Given the description of an element on the screen output the (x, y) to click on. 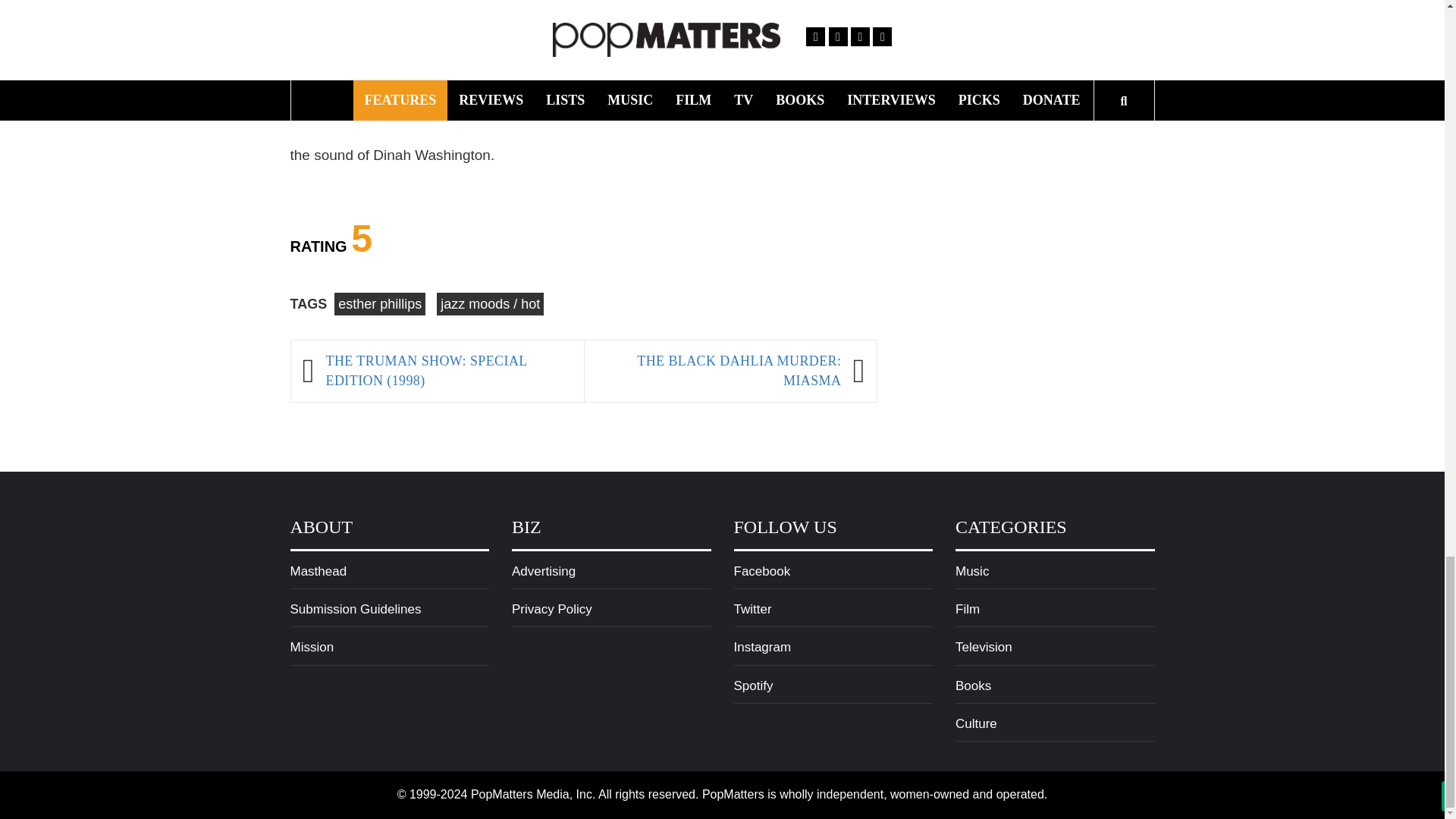
esther phillips (379, 303)
THE BLACK DAHLIA MURDER: MIASMA (718, 371)
